Given the description of an element on the screen output the (x, y) to click on. 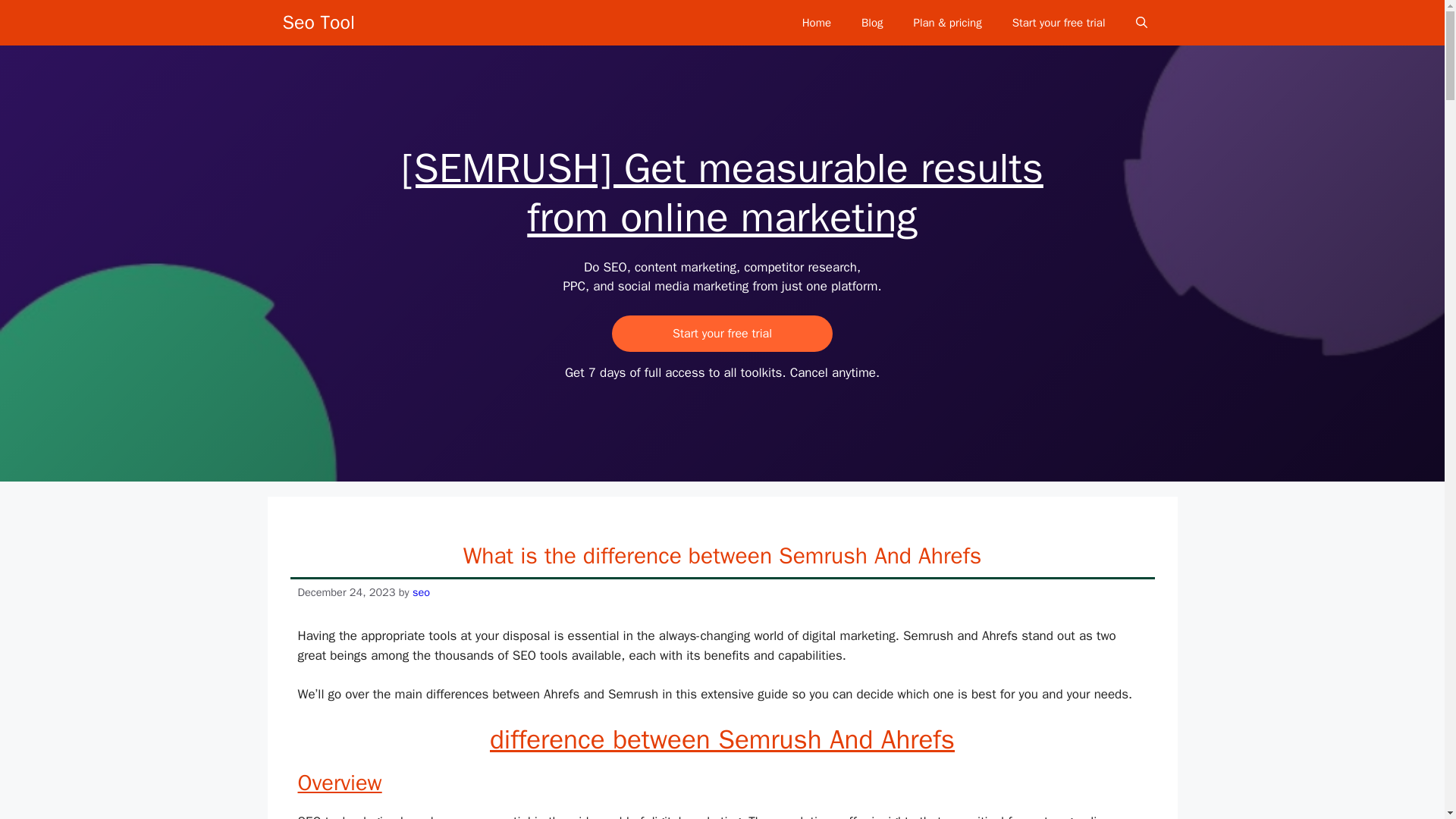
Home (816, 22)
Seo Tool (317, 22)
seo (420, 591)
Start your free trial (721, 333)
Start your free trial (1059, 22)
Blog (871, 22)
View all posts by seo (420, 591)
